Given the description of an element on the screen output the (x, y) to click on. 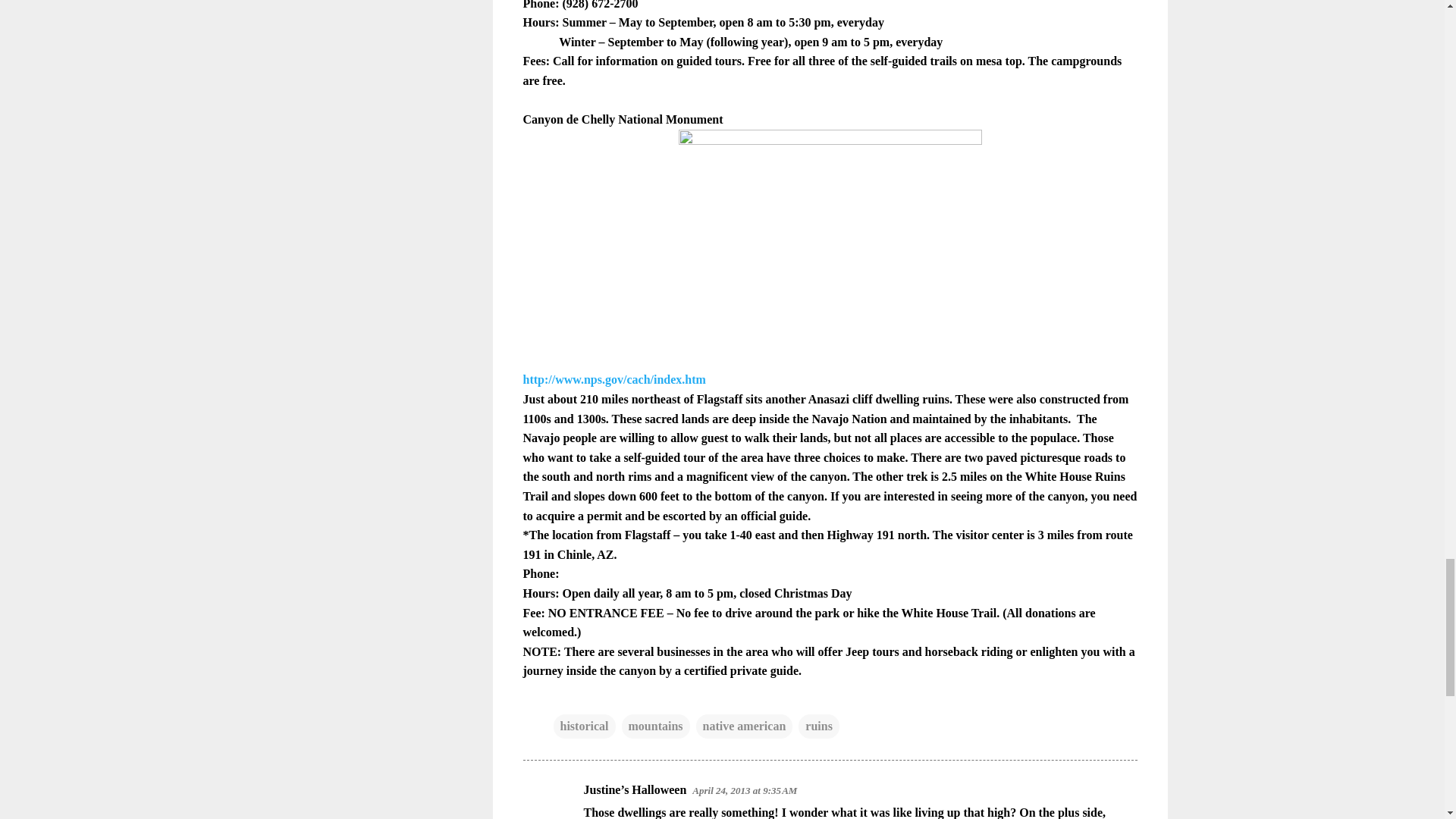
mountains (655, 726)
ruins (818, 726)
native american (744, 726)
historical (584, 726)
